Given the description of an element on the screen output the (x, y) to click on. 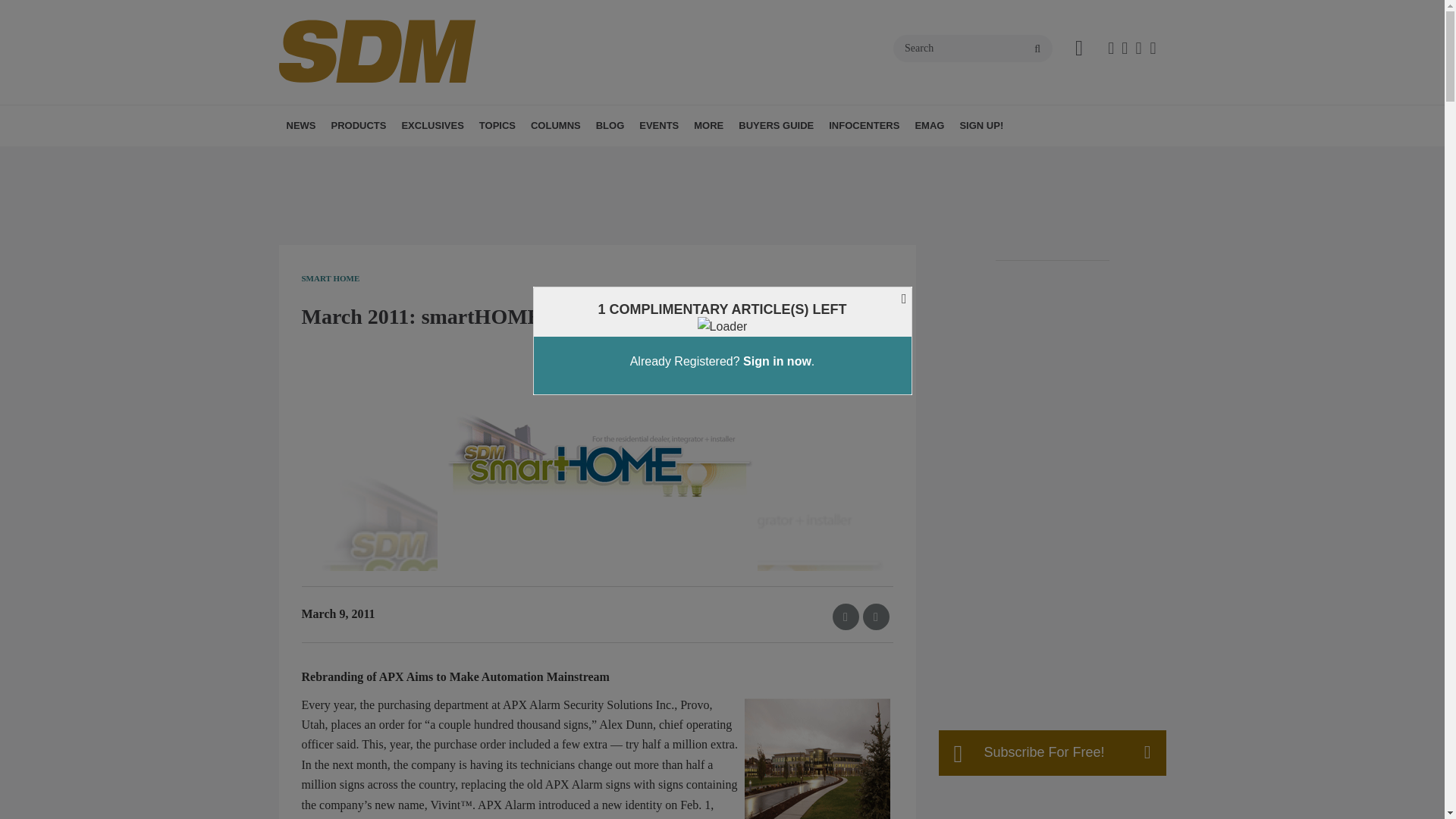
COLUMNS (555, 125)
Search (972, 48)
Search (972, 48)
SDM 100 (488, 158)
SECURITY NETWORKINGS (652, 158)
TOP SYSTEMS INTEGRATOR REPORT (496, 167)
VIDEO SOLUTIONS (573, 158)
EXCLUSIVES (431, 125)
EDITOR'S ANGLE (625, 158)
DEALER OF THE YEAR (515, 158)
